Given the description of an element on the screen output the (x, y) to click on. 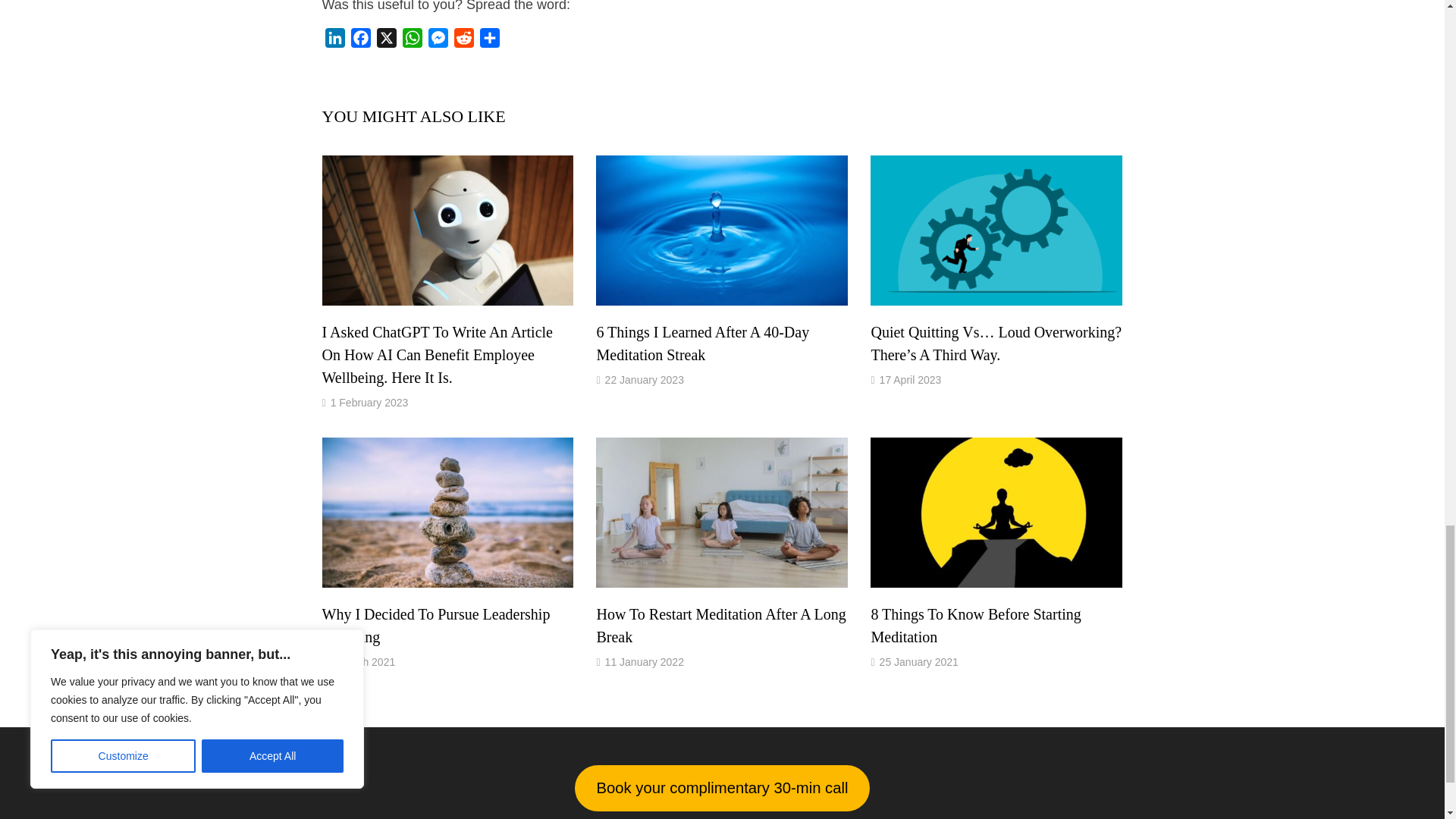
X (385, 40)
Messenger (437, 40)
Reddit (462, 40)
X (385, 40)
Why I decided to pursue Leadership Coaching (435, 625)
Facebook (359, 40)
Reddit (462, 40)
How to restart meditation after a long break (720, 625)
LinkedIn (334, 40)
Share (489, 40)
8 things to know before starting meditation (975, 625)
LinkedIn (334, 40)
6 things I learned after a 40-day meditation streak (702, 343)
Facebook (359, 40)
